Given the description of an element on the screen output the (x, y) to click on. 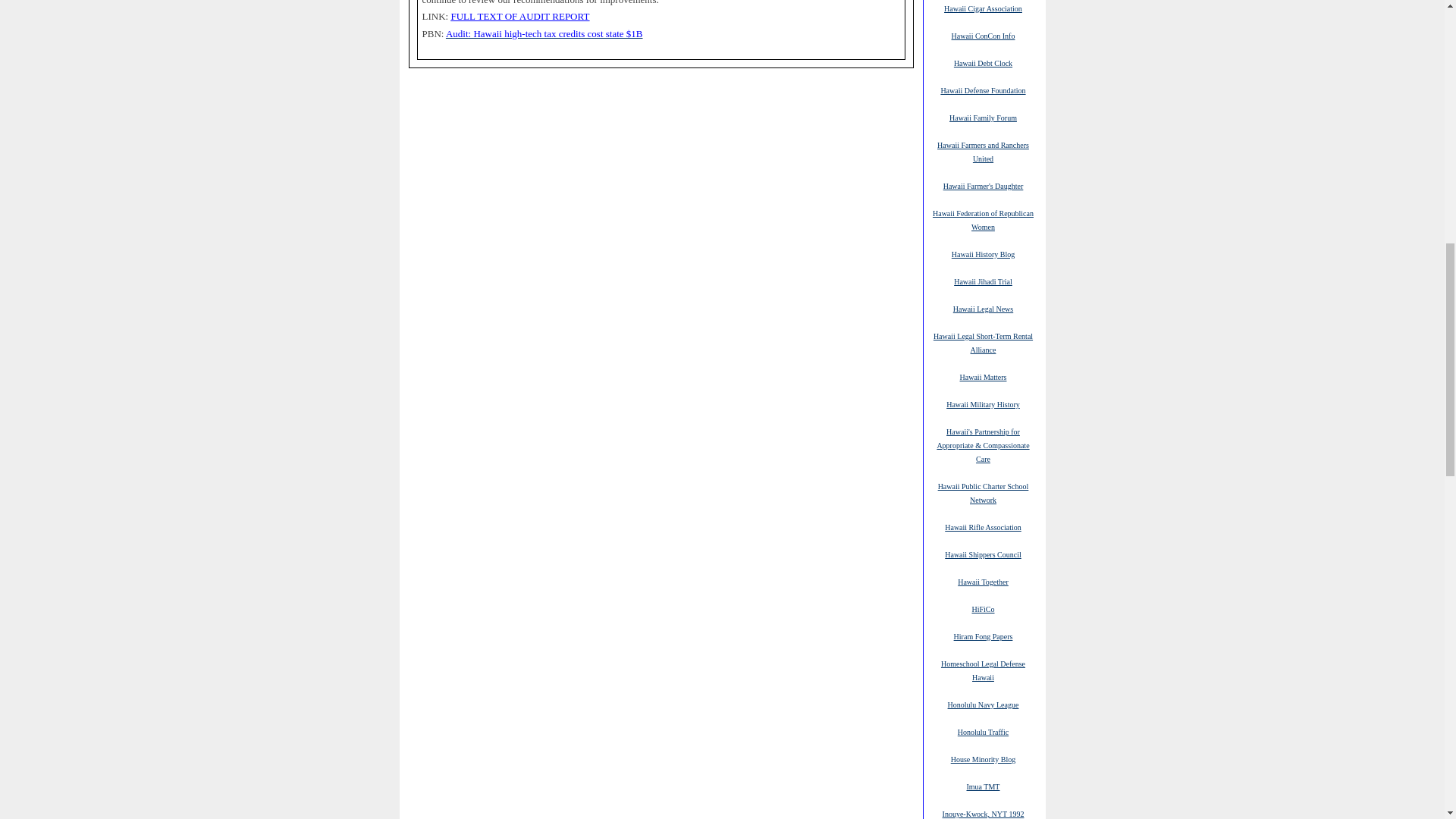
FULL TEXT OF AUDIT REPORT (519, 16)
Hawaii Defense Foundation (982, 90)
Hawaii Debt Clock (982, 62)
Hawaii Farmers and Ranchers United (983, 151)
Hawaii Farmer's Daughter (983, 185)
Hawaii History Blog (983, 253)
Hawaii Family Forum (982, 117)
Hawaii Cigar Association (982, 8)
Hawaii Federation of Republican Women (983, 219)
Hawaii ConCon Info (983, 35)
